Given the description of an element on the screen output the (x, y) to click on. 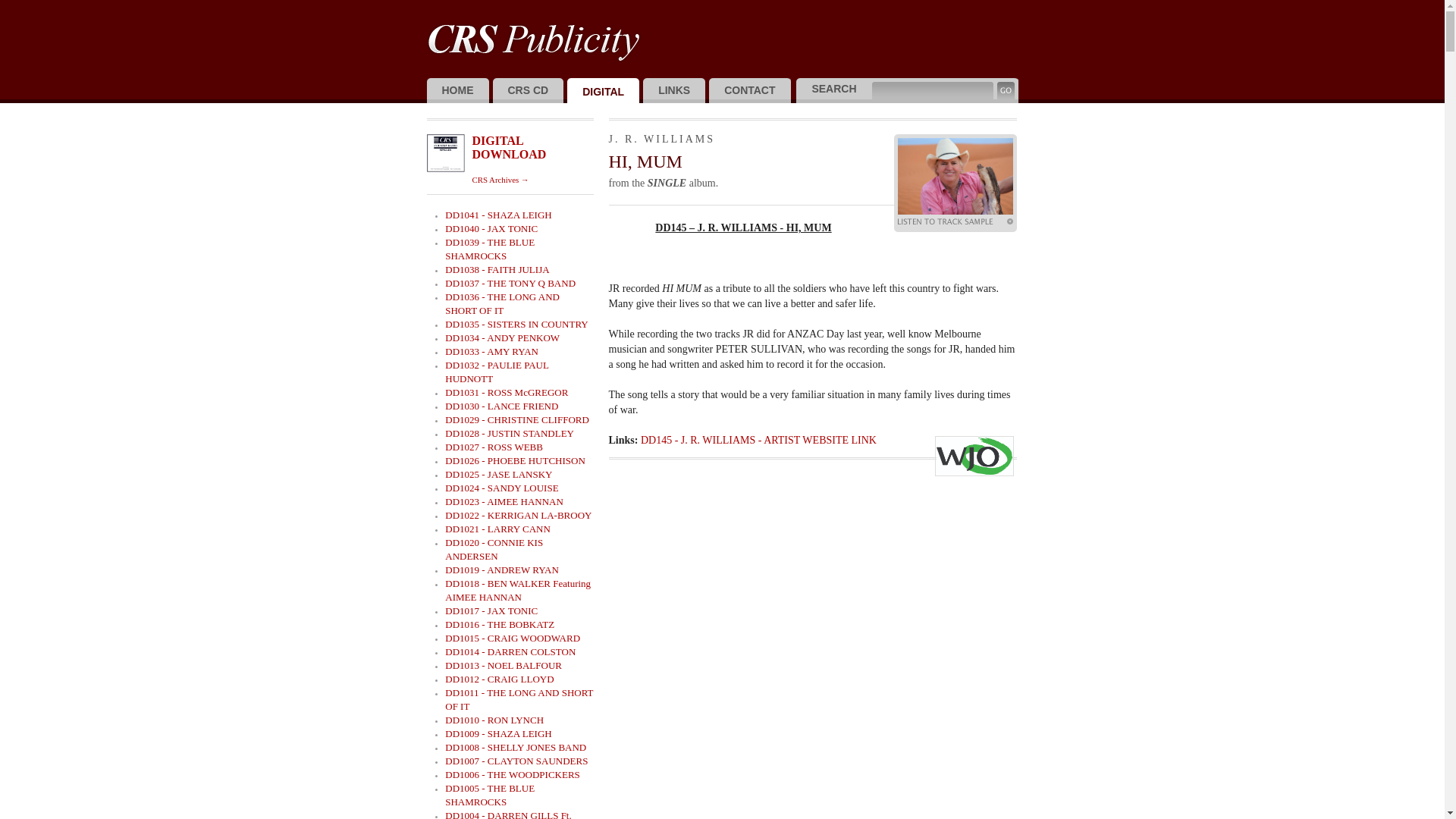
DD1022 - KERRIGAN LA-BROOY Element type: text (518, 514)
DD1007 - CLAYTON SAUNDERS Element type: text (516, 760)
DD1021 - LARRY CANN Element type: text (497, 528)
DD1023 - AIMEE HANNAN Element type: text (504, 501)
DD1030 - LANCE FRIEND Element type: text (501, 405)
DD1032 - PAULIE PAUL HUDNOTT Element type: text (496, 371)
DD1016 - THE BOBKATZ Element type: text (499, 624)
HOME Element type: text (457, 90)
DIGITAL DOWNLOAD Element type: text (508, 147)
DD1033 - AMY RYAN Element type: text (491, 351)
DIGITAL Element type: text (603, 90)
CRS CD Element type: text (528, 90)
DD1019 - ANDREW RYAN Element type: text (501, 569)
DD1034 - ANDY PENKOW Element type: text (502, 337)
DD1009 - SHAZA LEIGH Element type: text (498, 733)
CRS Publicity Element type: text (527, 39)
DD1008 - SHELLY JONES BAND Element type: text (515, 747)
DD1010 - RON LYNCH Element type: text (494, 719)
DD1013 - NOEL BALFOUR Element type: text (503, 665)
DD1014 - DARREN COLSTON Element type: text (510, 651)
DD1005 - THE BLUE SHAMROCKS Element type: text (489, 794)
CONTACT Element type: text (749, 90)
DD1041 - SHAZA LEIGH Element type: text (498, 214)
DD1020 - CONNIE KIS ANDERSEN Element type: text (493, 548)
DD1029 - CHRISTINE CLIFFORD Element type: text (517, 419)
DD1031 - ROSS McGREGOR Element type: text (506, 392)
DD1025 - JASE LANSKY Element type: text (498, 474)
DD1017 - JAX TONIC Element type: text (491, 610)
DD1028 - JUSTIN STANDLEY Element type: text (509, 433)
DD1038 - FAITH JULIJA Element type: text (497, 269)
DD1036 - THE LONG AND SHORT OF IT Element type: text (502, 303)
DD1006 - THE WOODPICKERS Element type: text (512, 774)
DD1039 - THE BLUE SHAMROCKS Element type: text (489, 248)
LINKS Element type: text (674, 90)
DD1037 - THE TONY Q BAND Element type: text (510, 282)
DD1024 - SANDY LOUISE Element type: text (501, 487)
DD1012 - CRAIG LLOYD Element type: text (499, 678)
DD1015 - CRAIG WOODWARD Element type: text (512, 637)
DD145 - J. R. WILLIAMS - ARTIST WEBSITE LINK Element type: text (758, 439)
DD1040 - JAX TONIC Element type: text (491, 228)
DD1018 - BEN WALKER Featuring AIMEE HANNAN Element type: text (517, 589)
DD1026 - PHOEBE HUTCHISON Element type: text (515, 460)
DD1027 - ROSS WEBB Element type: text (493, 446)
DD1011 - THE LONG AND SHORT OF IT Element type: text (519, 699)
DD1035 - SISTERS IN COUNTRY Element type: text (516, 323)
